Given the description of an element on the screen output the (x, y) to click on. 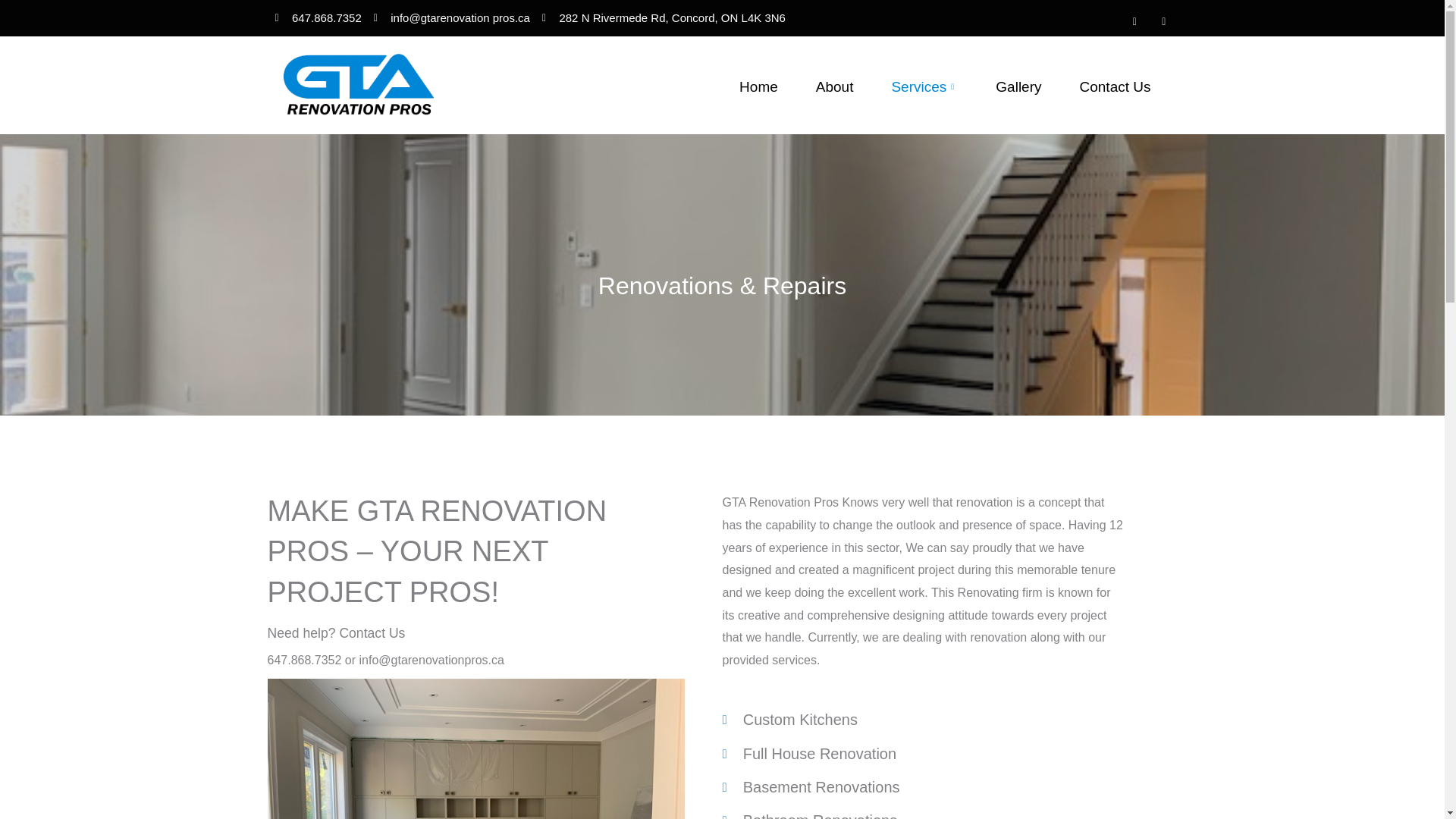
Home (758, 86)
About (834, 86)
Contact Us (1115, 86)
Services (924, 86)
Gallery (1017, 86)
